Given the description of an element on the screen output the (x, y) to click on. 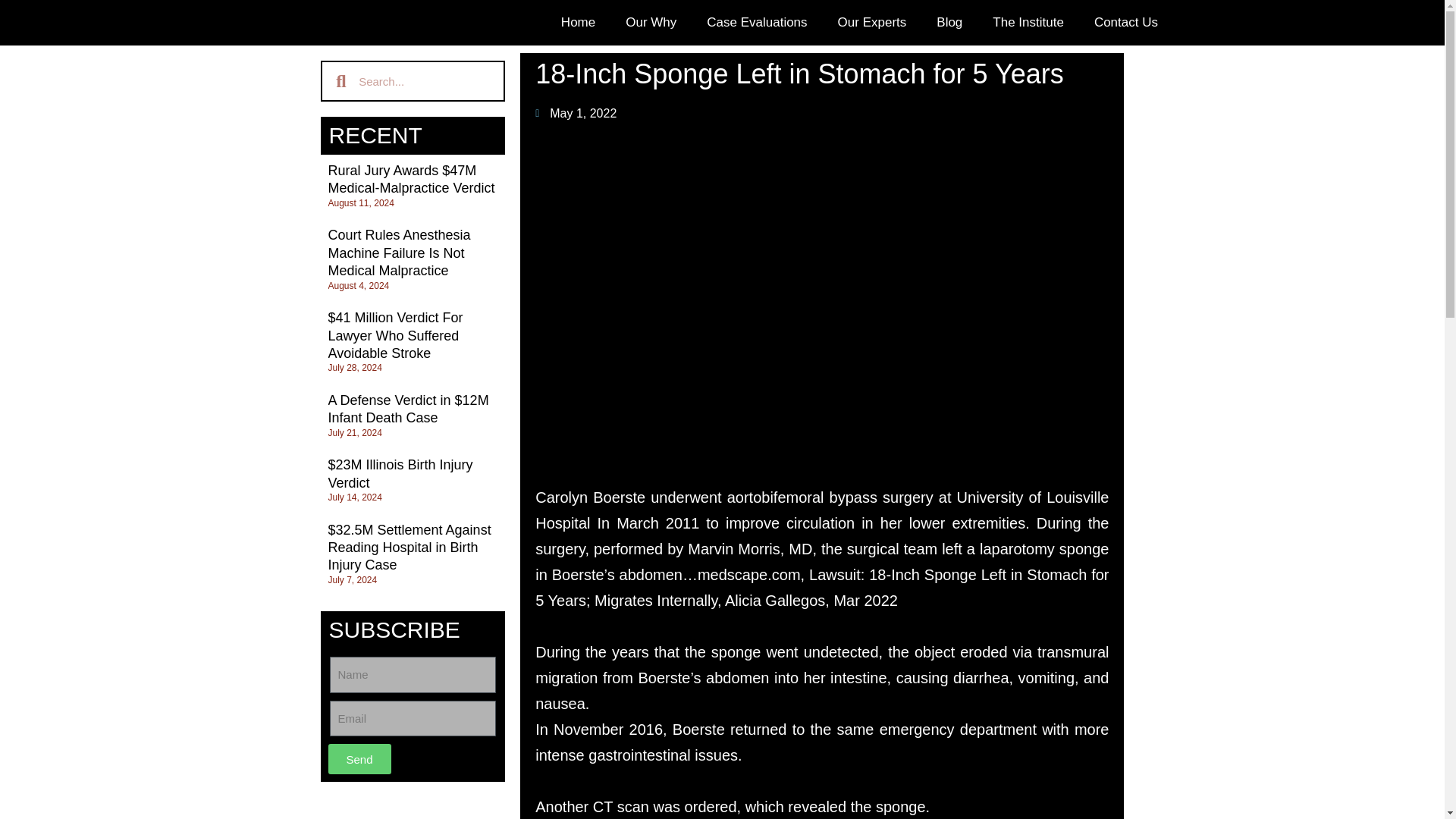
Our Why (650, 22)
Our Experts (871, 22)
Blog (948, 22)
May 1, 2022 (575, 113)
Case Evaluations (756, 22)
Contact Us (1125, 22)
Home (578, 22)
Send (358, 758)
The Institute (1027, 22)
